Given the description of an element on the screen output the (x, y) to click on. 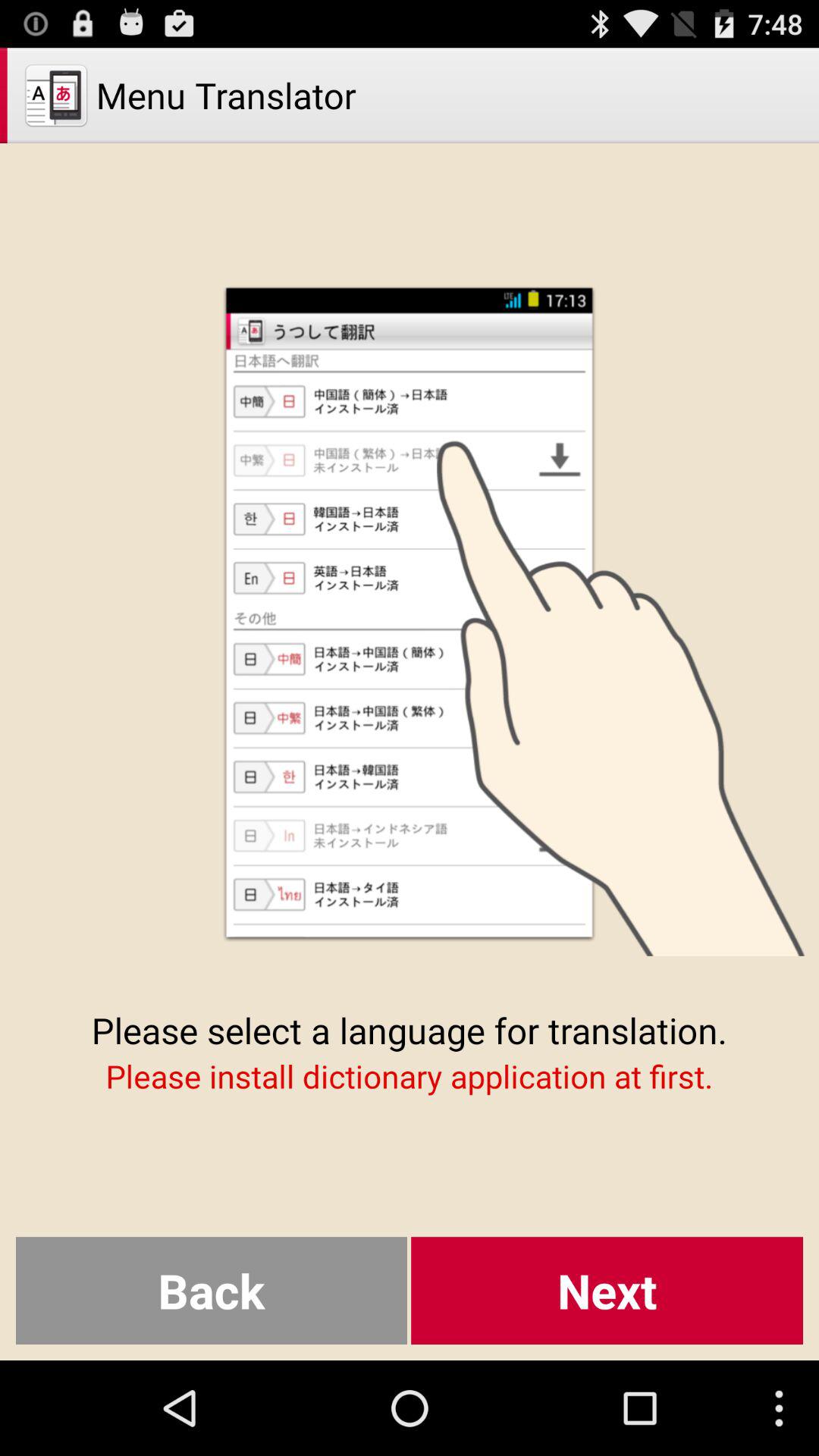
select item at the bottom left corner (211, 1290)
